Given the description of an element on the screen output the (x, y) to click on. 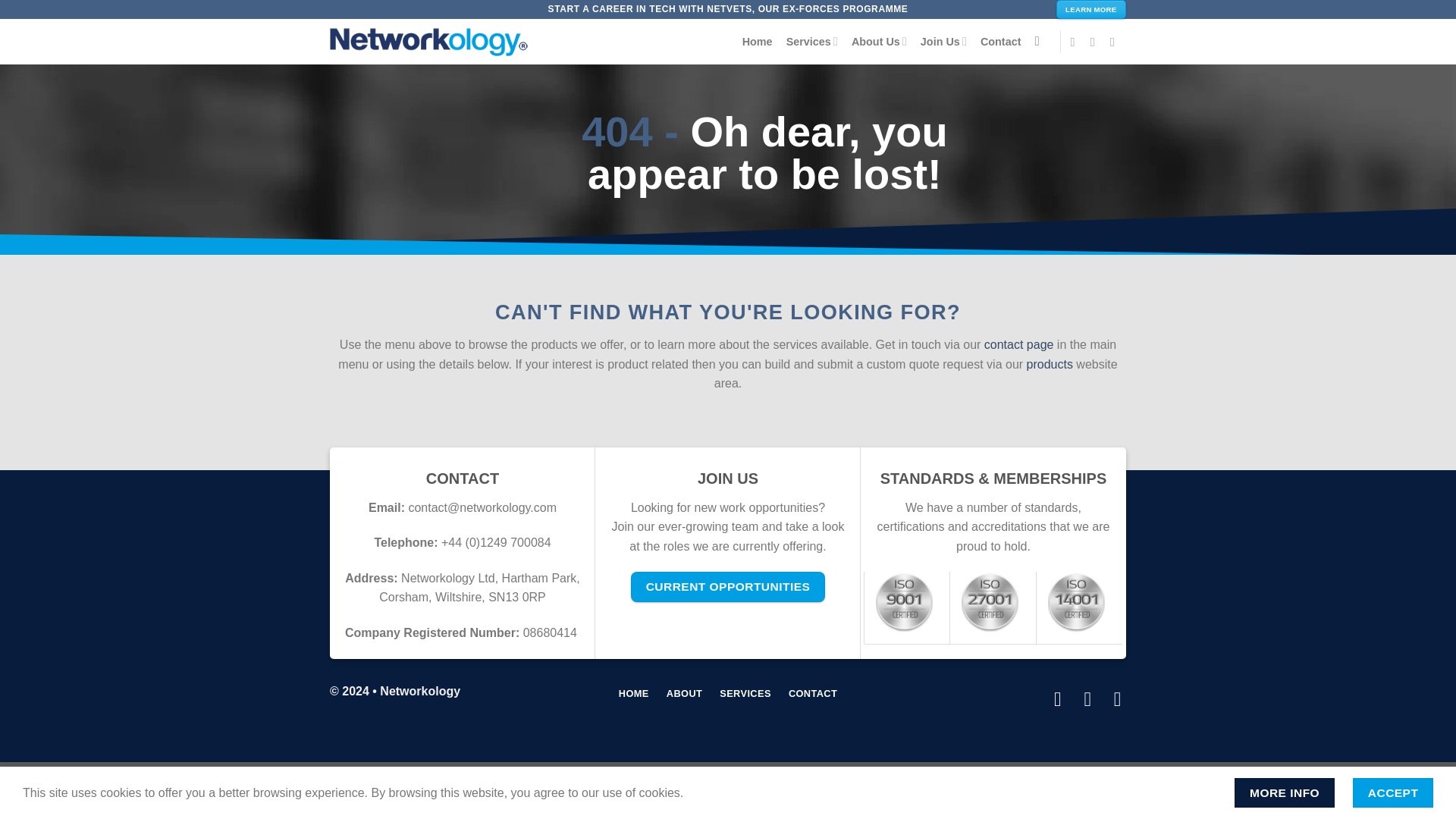
Join Us (943, 41)
About Us (879, 41)
LEARN MORE (1091, 9)
Services (812, 41)
Contact (1000, 41)
Home (757, 41)
